Given the description of an element on the screen output the (x, y) to click on. 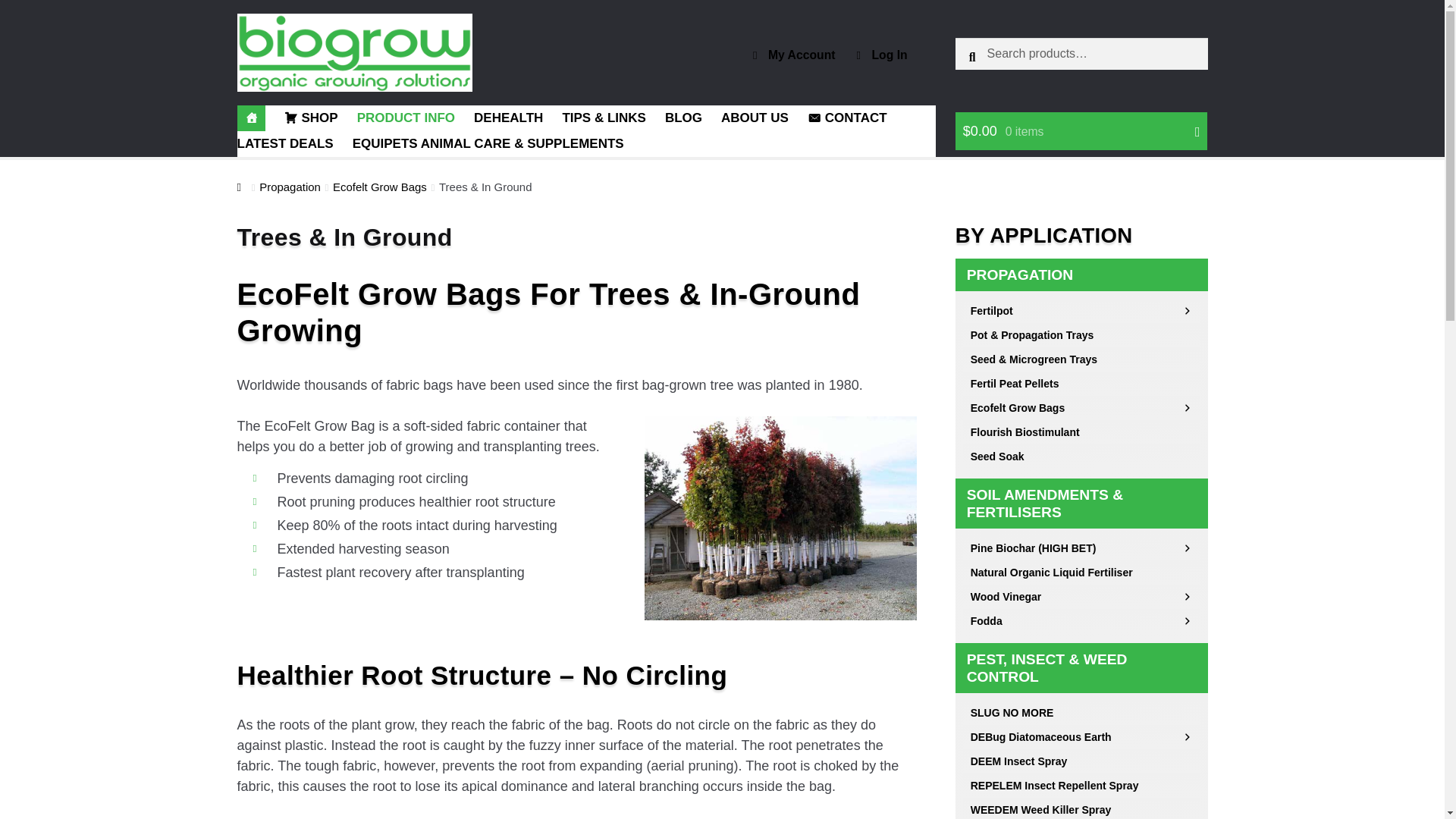
Log In (882, 55)
My Account (794, 55)
SHOP (310, 118)
PRODUCT INFO (405, 118)
View your shopping cart (1080, 130)
